Given the description of an element on the screen output the (x, y) to click on. 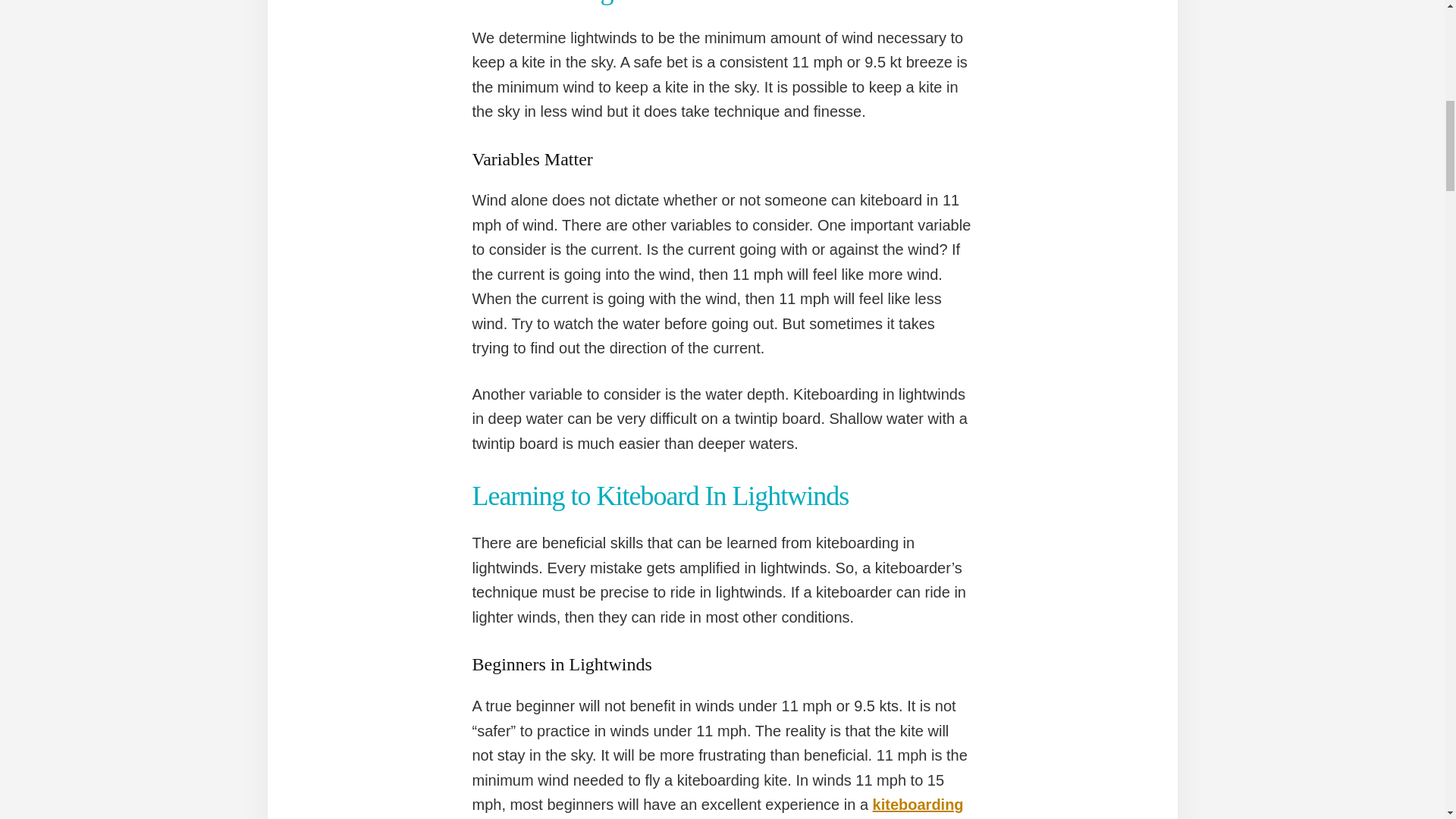
kiteboarding lesson (716, 807)
